Given the description of an element on the screen output the (x, y) to click on. 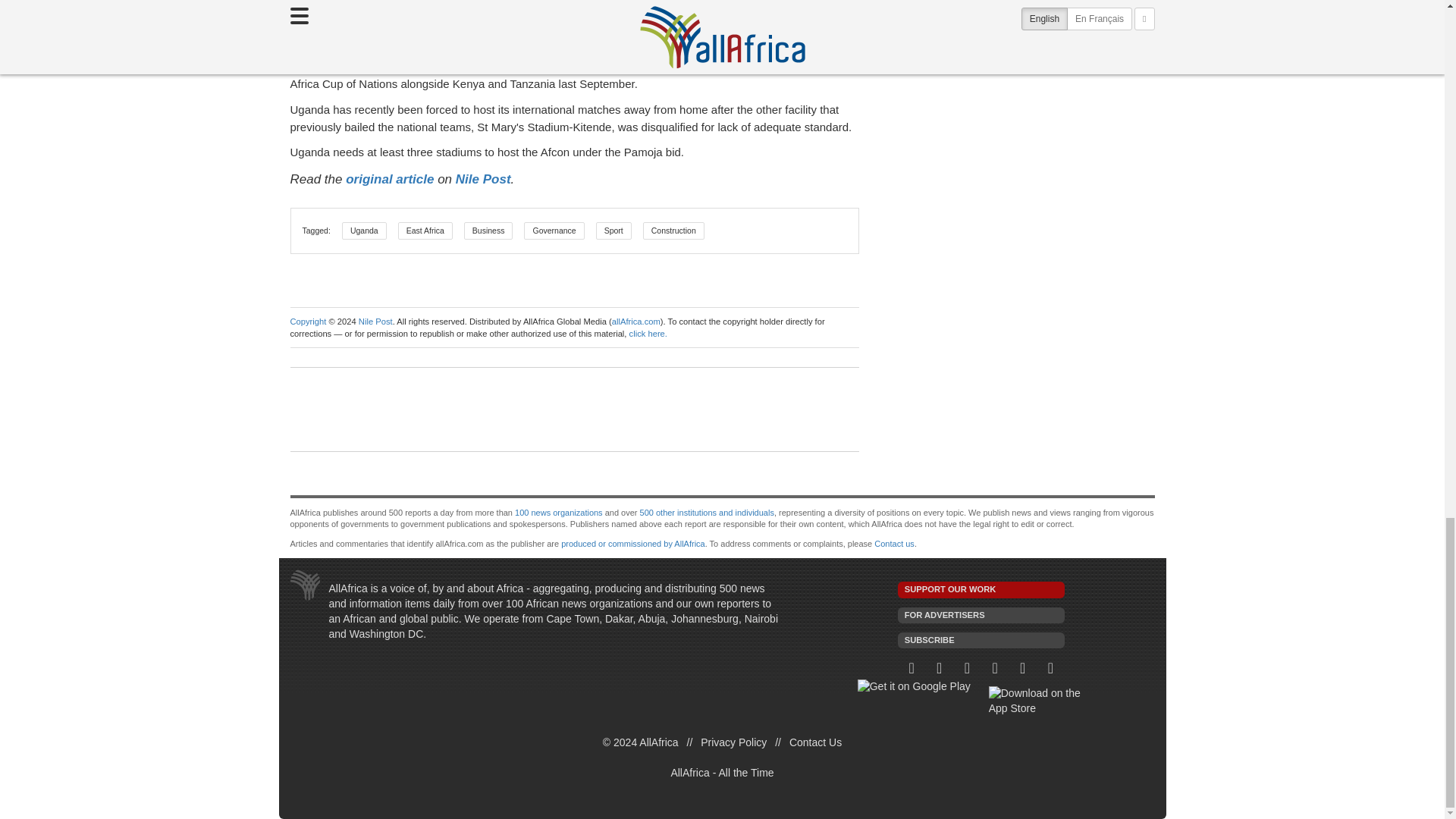
Governance (553, 230)
Subscribe to AllAfrica via RSS (1050, 668)
original article (389, 178)
Sport (613, 230)
Uganda (364, 230)
Nile Post (483, 178)
Nile Post (375, 320)
Construction (673, 230)
Business (488, 230)
Copyright (307, 320)
